Given the description of an element on the screen output the (x, y) to click on. 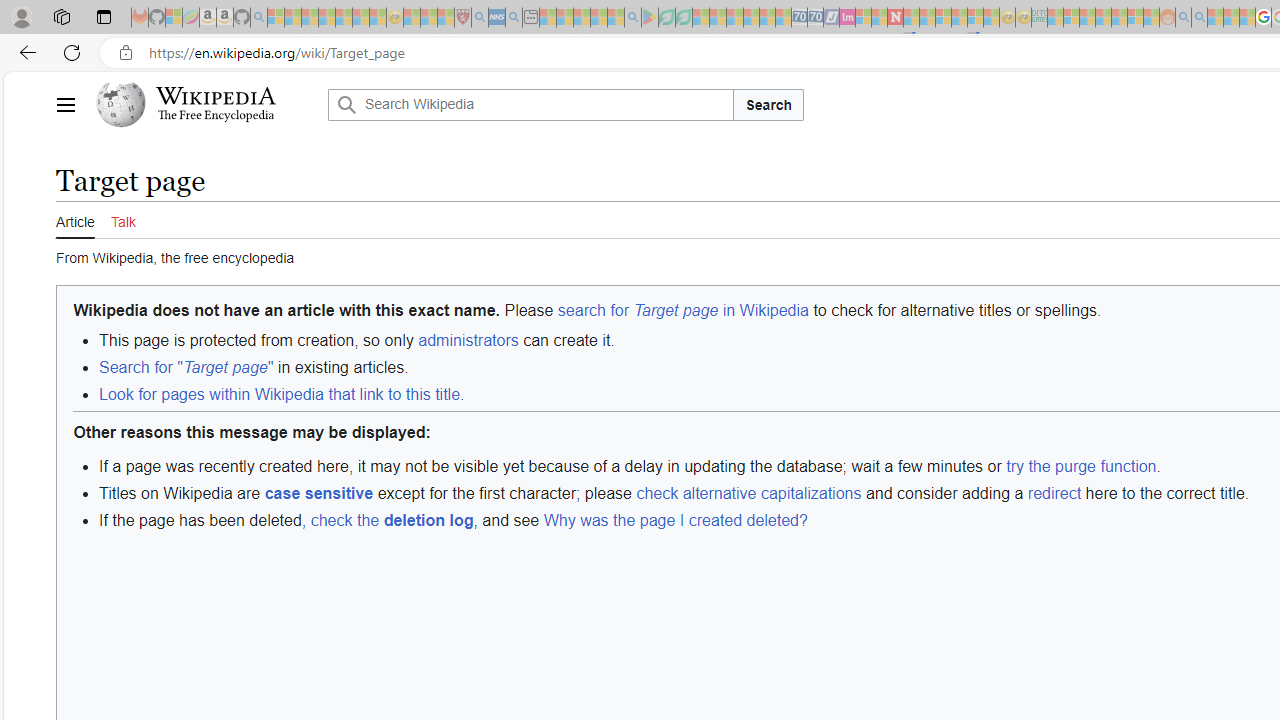
search for Target page in Wikipedia (682, 309)
redirect (1053, 492)
administrators (468, 340)
Talk (122, 219)
